Given the description of an element on the screen output the (x, y) to click on. 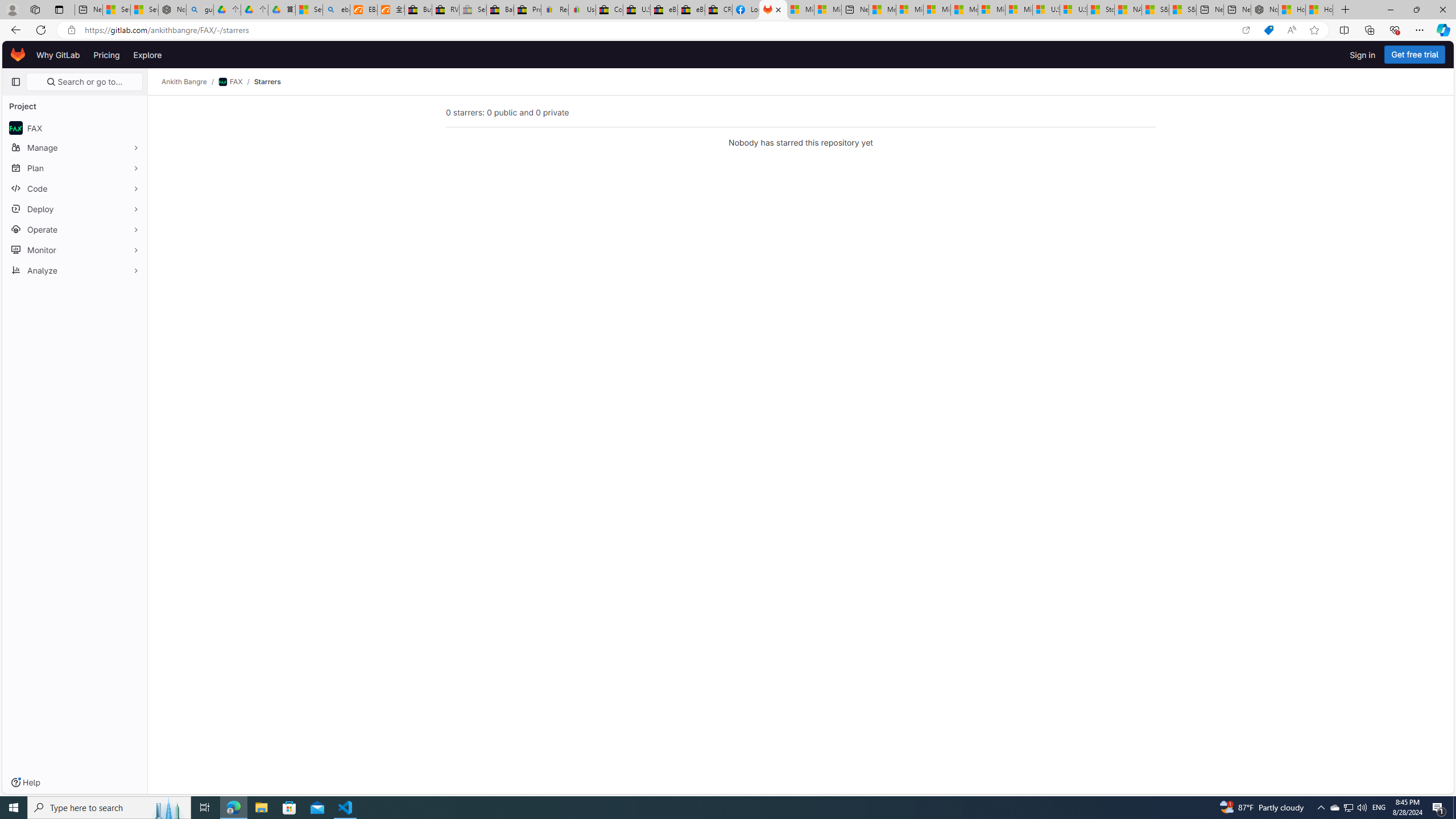
Deploy (74, 208)
